Given the description of an element on the screen output the (x, y) to click on. 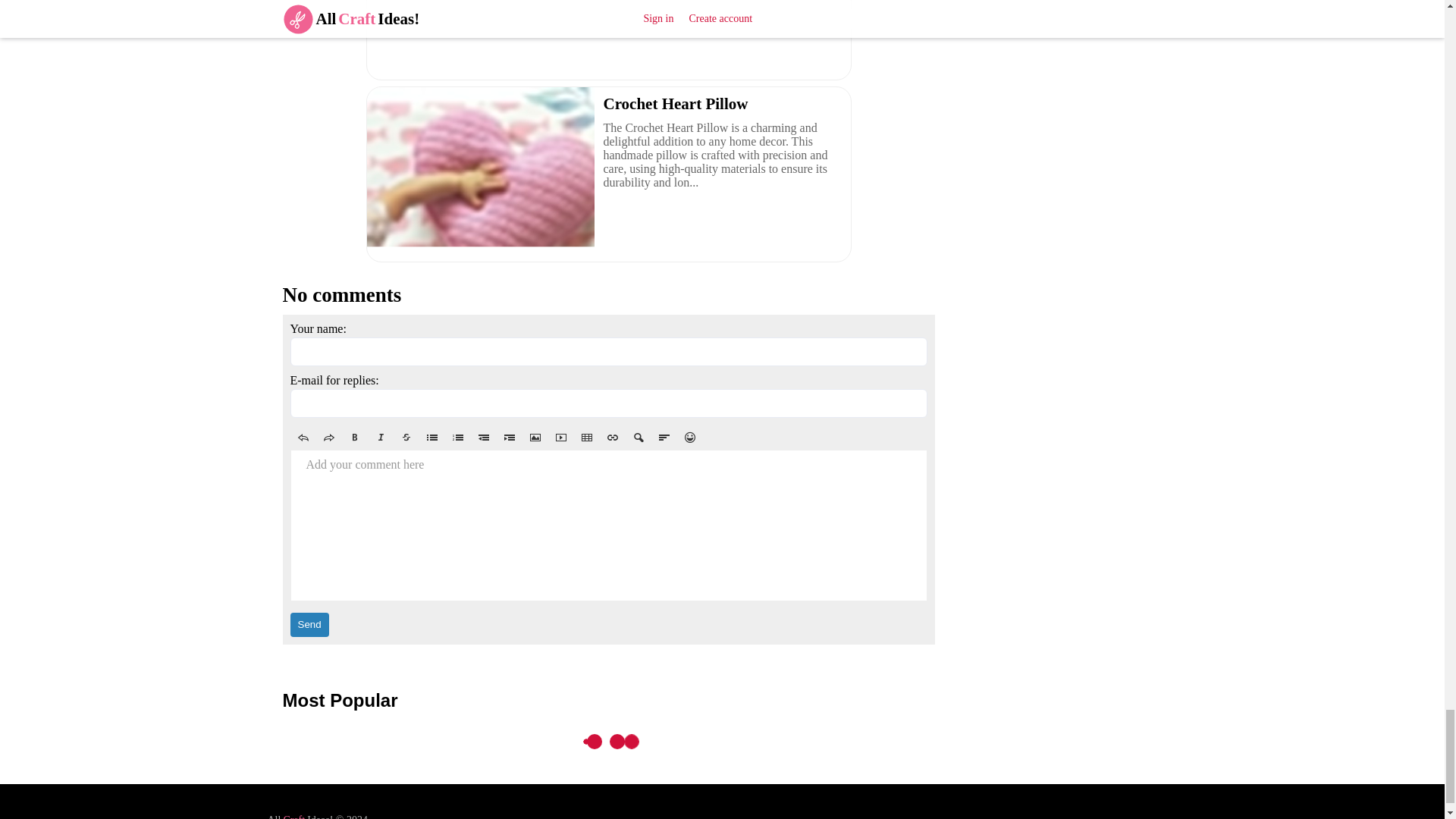
Link (611, 437)
Italic (379, 437)
Table (585, 437)
Undo (302, 437)
Insert Image (534, 437)
Redo (327, 437)
Deleted (406, 437)
Bold (353, 437)
1. Ordered List (457, 437)
Insert Video (560, 437)
Send (309, 624)
